Given the description of an element on the screen output the (x, y) to click on. 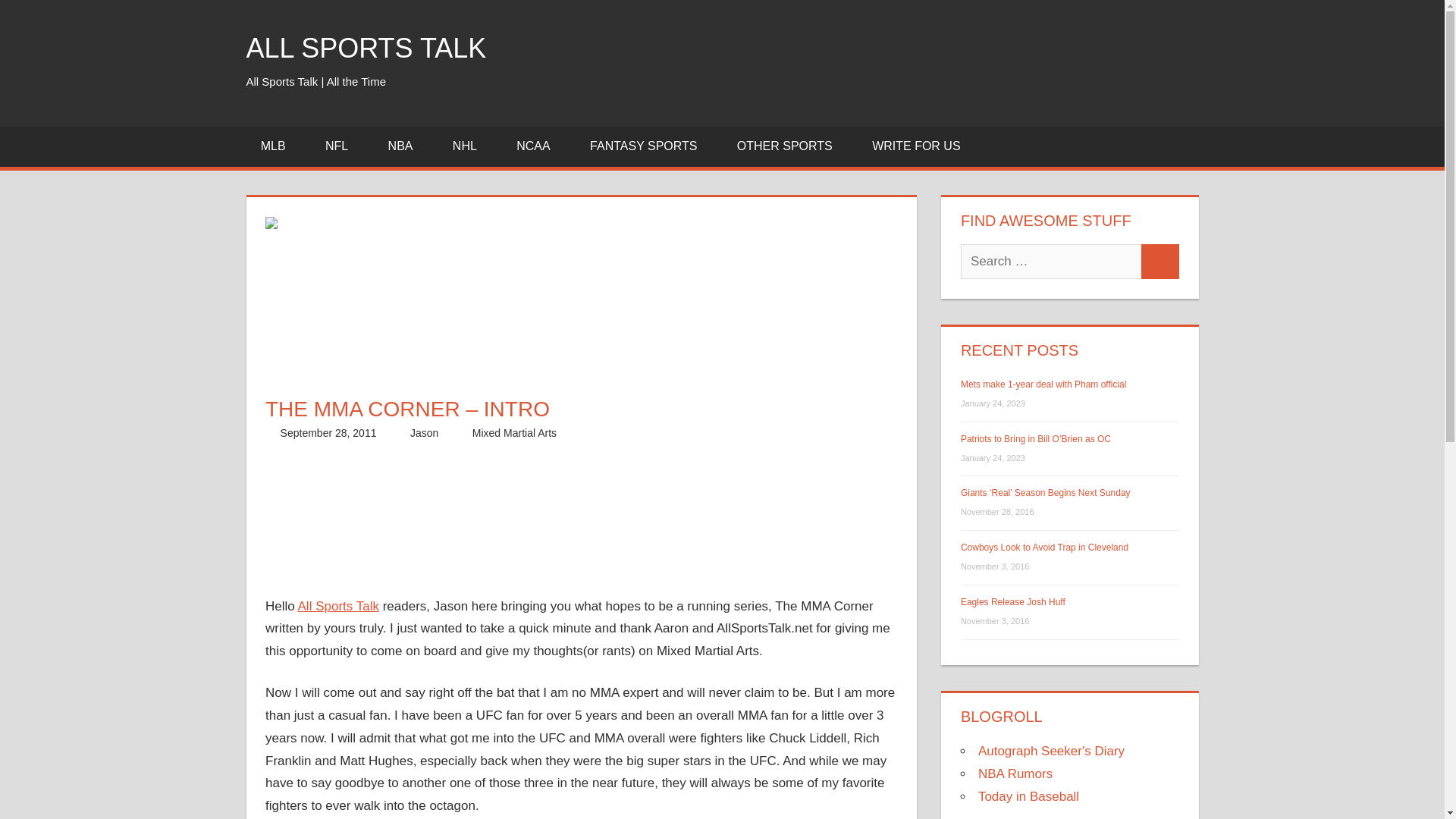
View all posts by Jason (424, 432)
Search for: (1050, 261)
OTHER SPORTS (789, 146)
Jason (424, 432)
MLB (278, 146)
September 28, 2011 (329, 432)
NFL (342, 146)
12:32 pm (329, 432)
WRITE FOR US (916, 146)
NBA Rumors (1015, 773)
